Given the description of an element on the screen output the (x, y) to click on. 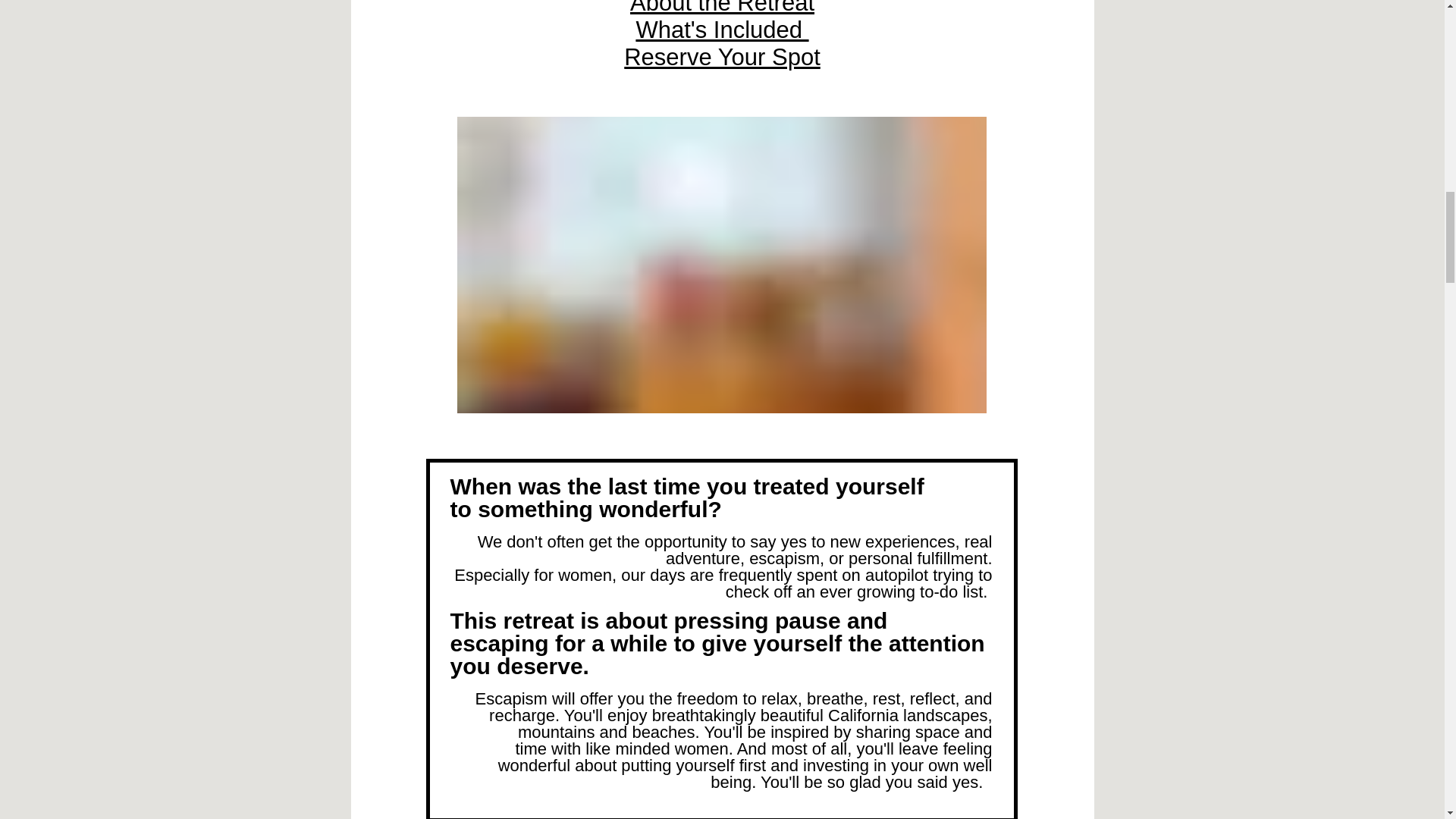
Reserve Your Spot (722, 57)
About the Retreat (721, 7)
What's Included  (721, 29)
